Given the description of an element on the screen output the (x, y) to click on. 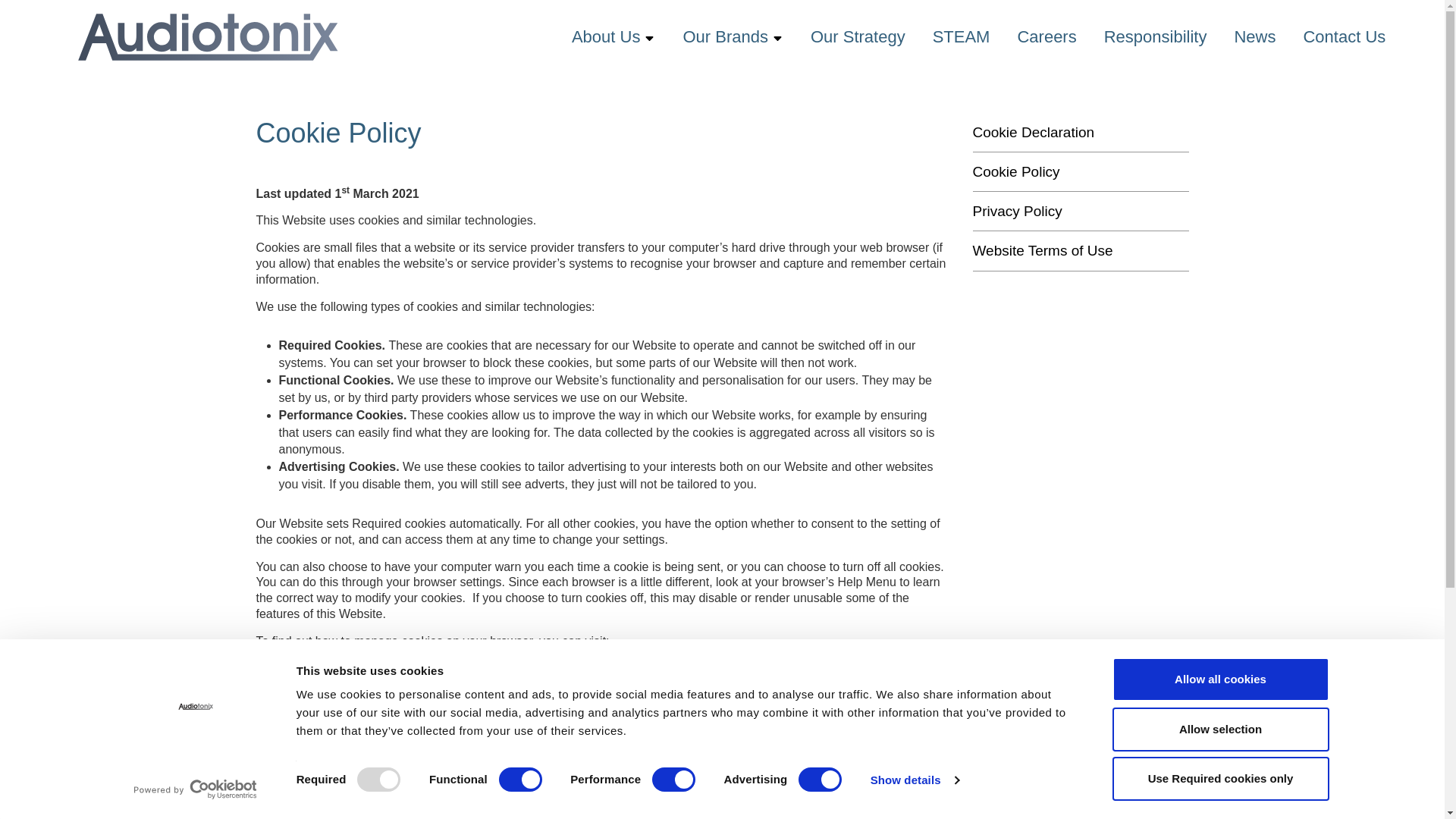
About Us (606, 36)
Allow all cookies (1219, 679)
Show details (914, 780)
About Us (606, 36)
Use Required cookies only (1219, 778)
Our Brands (725, 36)
Allow selection (1219, 728)
Our Brands (725, 36)
